Given the description of an element on the screen output the (x, y) to click on. 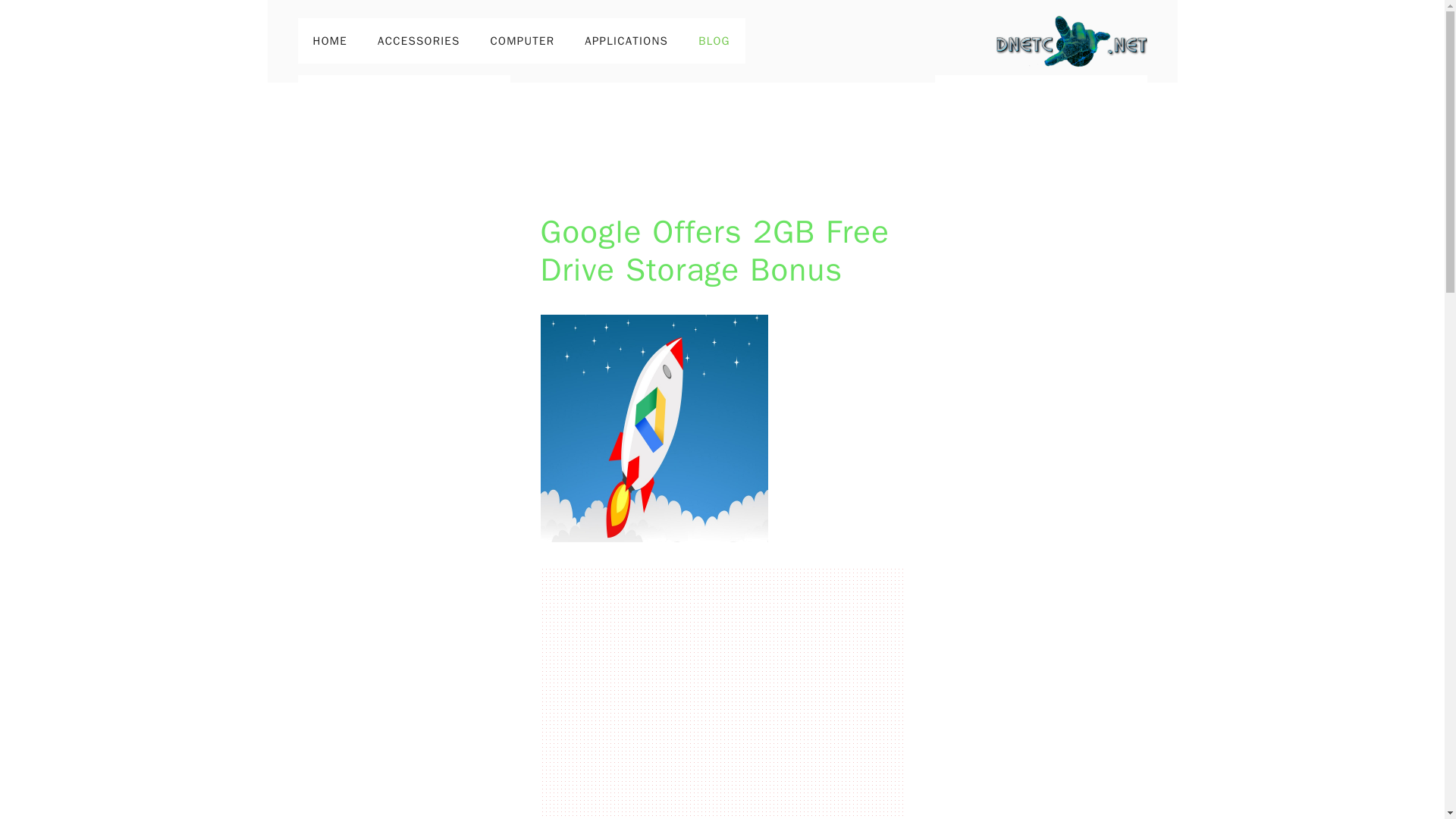
ACCESSORIES (419, 40)
COMPUTER (523, 40)
BLOG (713, 40)
APPLICATIONS (625, 40)
HOME (329, 40)
